Given the description of an element on the screen output the (x, y) to click on. 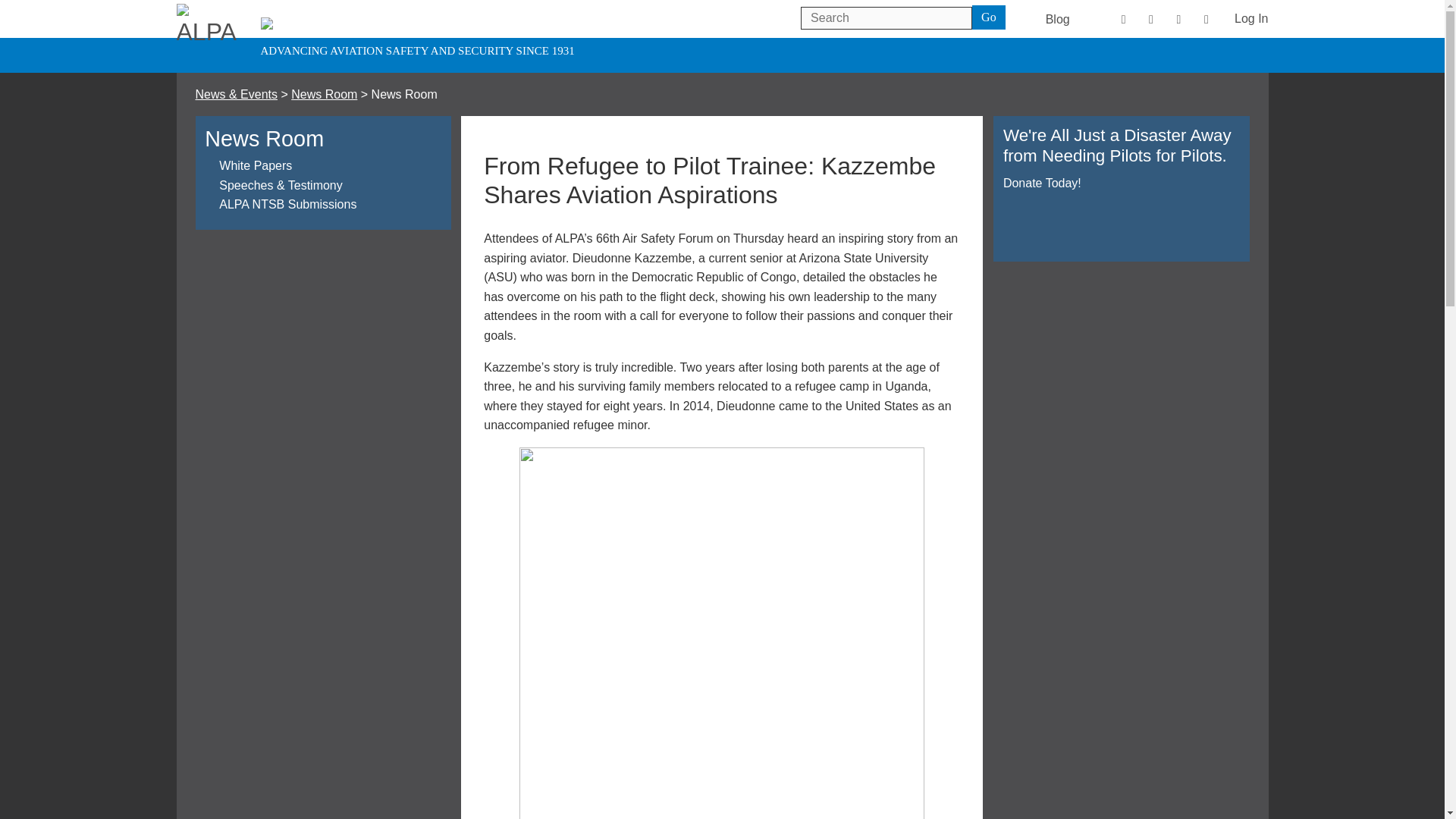
ADVANCING AVIATION SAFETY AND SECURITY SINCE 1931 (210, 37)
Go (989, 16)
